Given the description of an element on the screen output the (x, y) to click on. 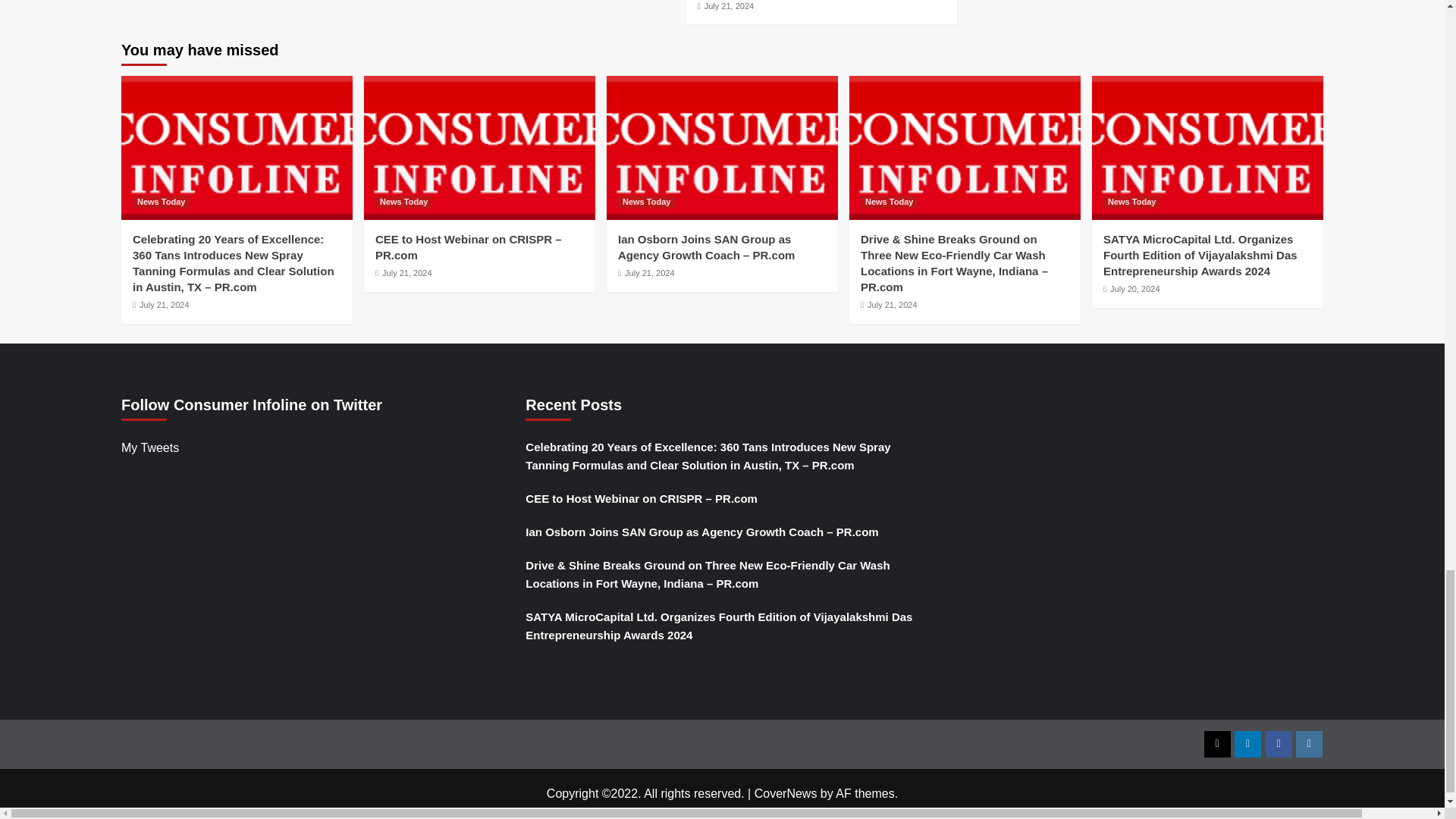
CEE to Host Webinar on CRISPR - PR.com 11 (479, 148)
